Given the description of an element on the screen output the (x, y) to click on. 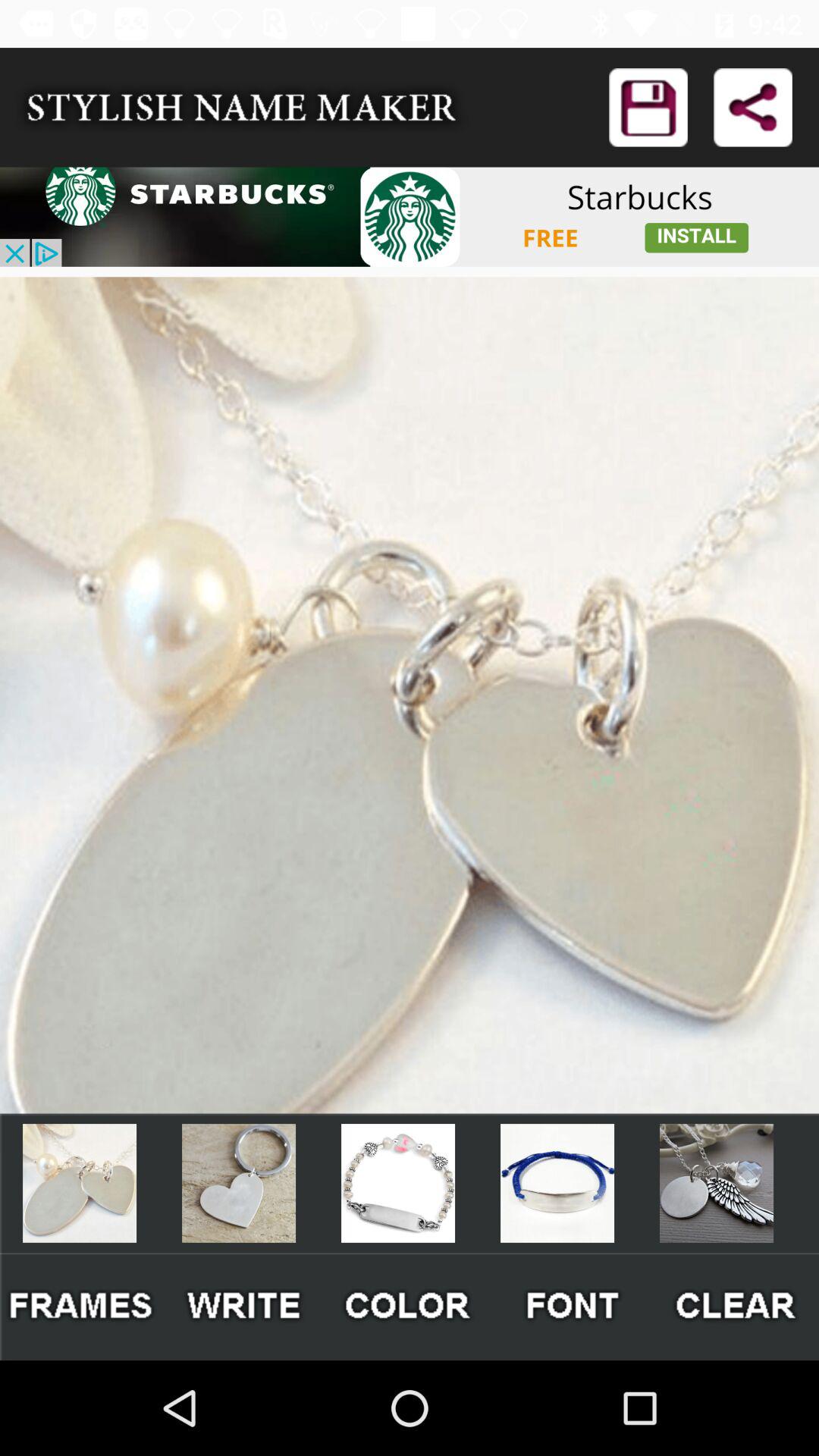
frames (81, 1306)
